Given the description of an element on the screen output the (x, y) to click on. 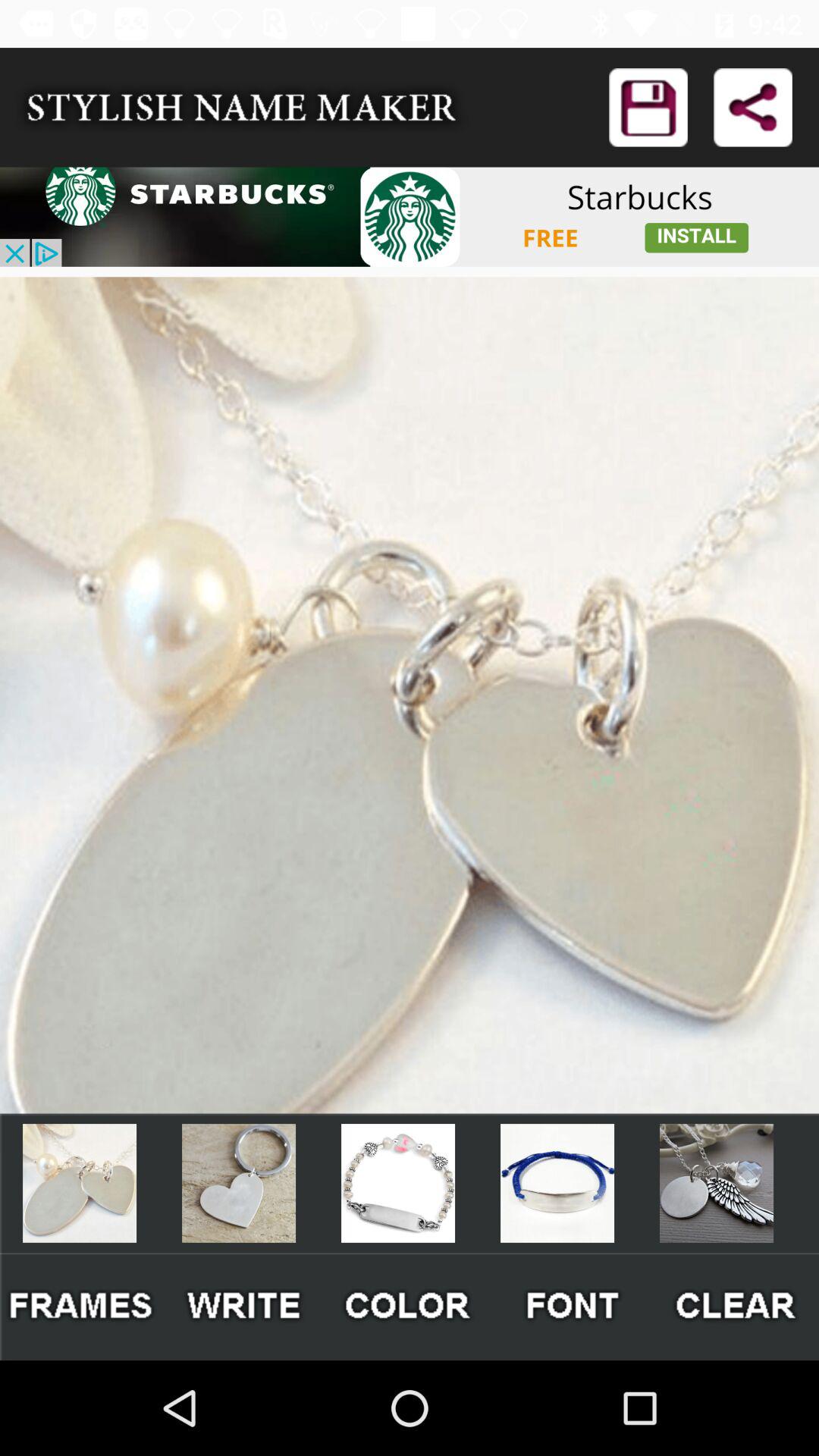
frames (81, 1306)
